Given the description of an element on the screen output the (x, y) to click on. 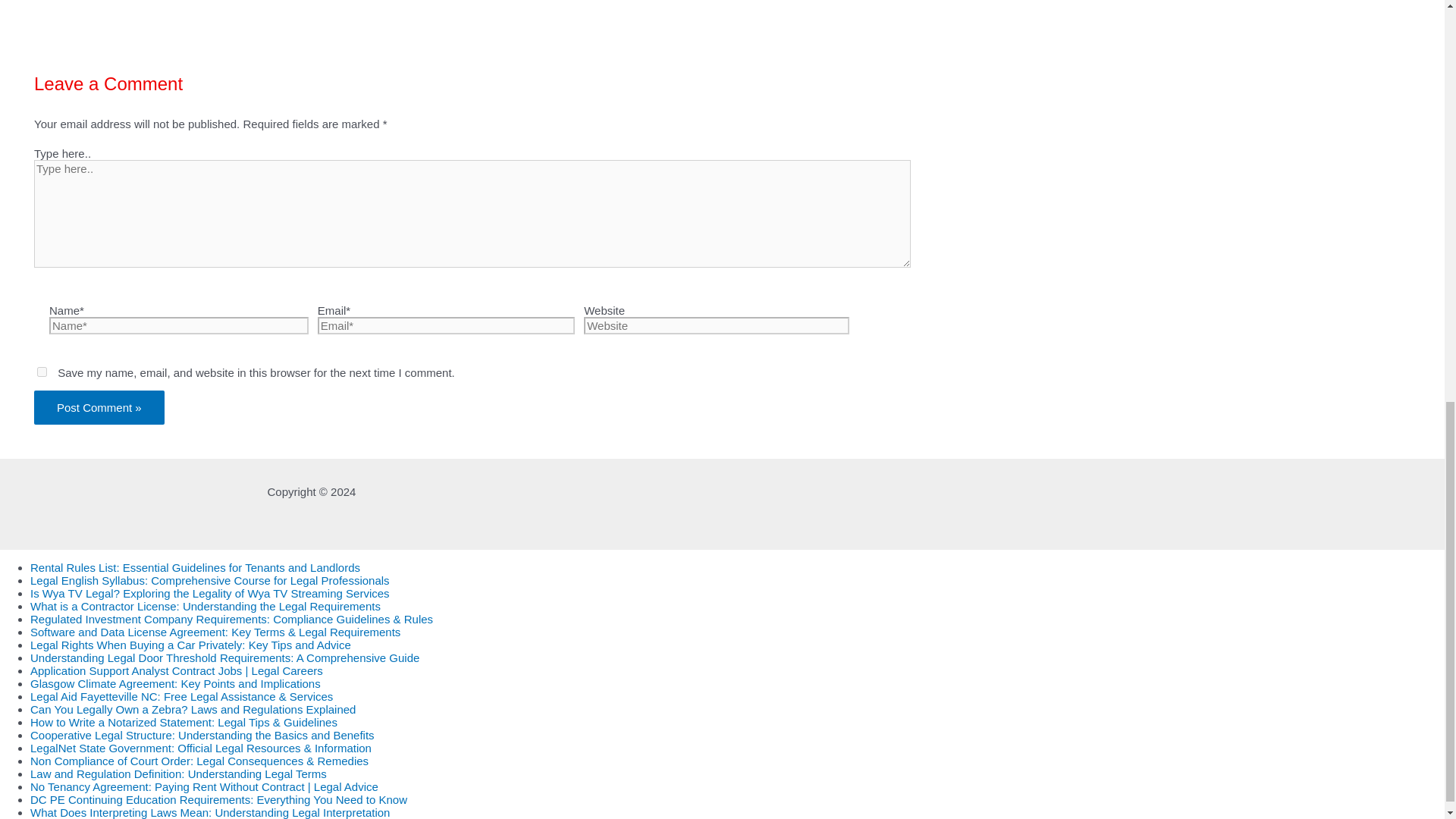
Glasgow Climate Agreement: Key Points and Implications (175, 683)
Glasgow Climate Agreement: Key Points and Implications (175, 683)
yes (41, 371)
Law and Regulation Definition: Understanding Legal Terms (178, 773)
